Given the description of an element on the screen output the (x, y) to click on. 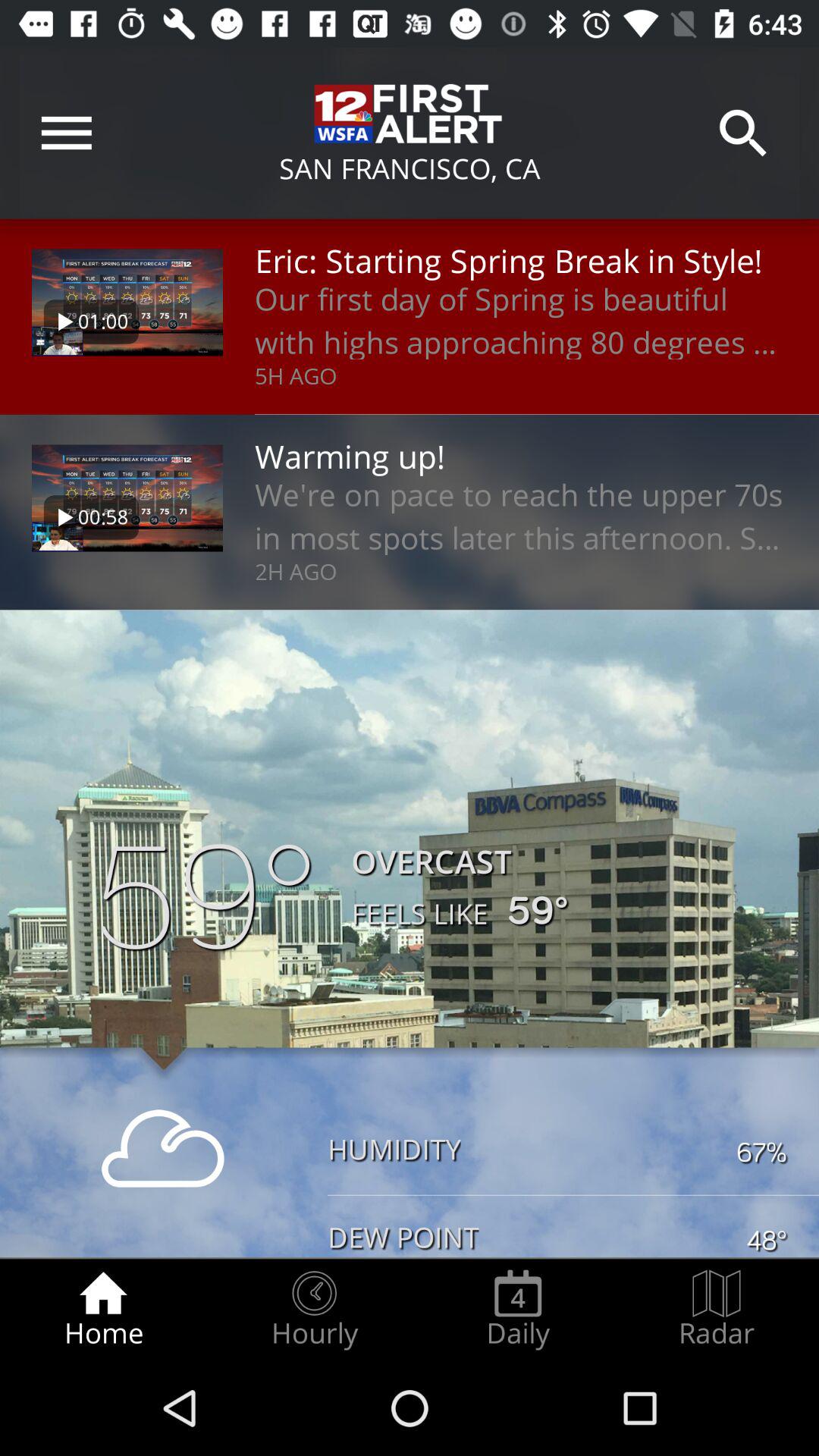
tap the radar icon (716, 1309)
